Given the description of an element on the screen output the (x, y) to click on. 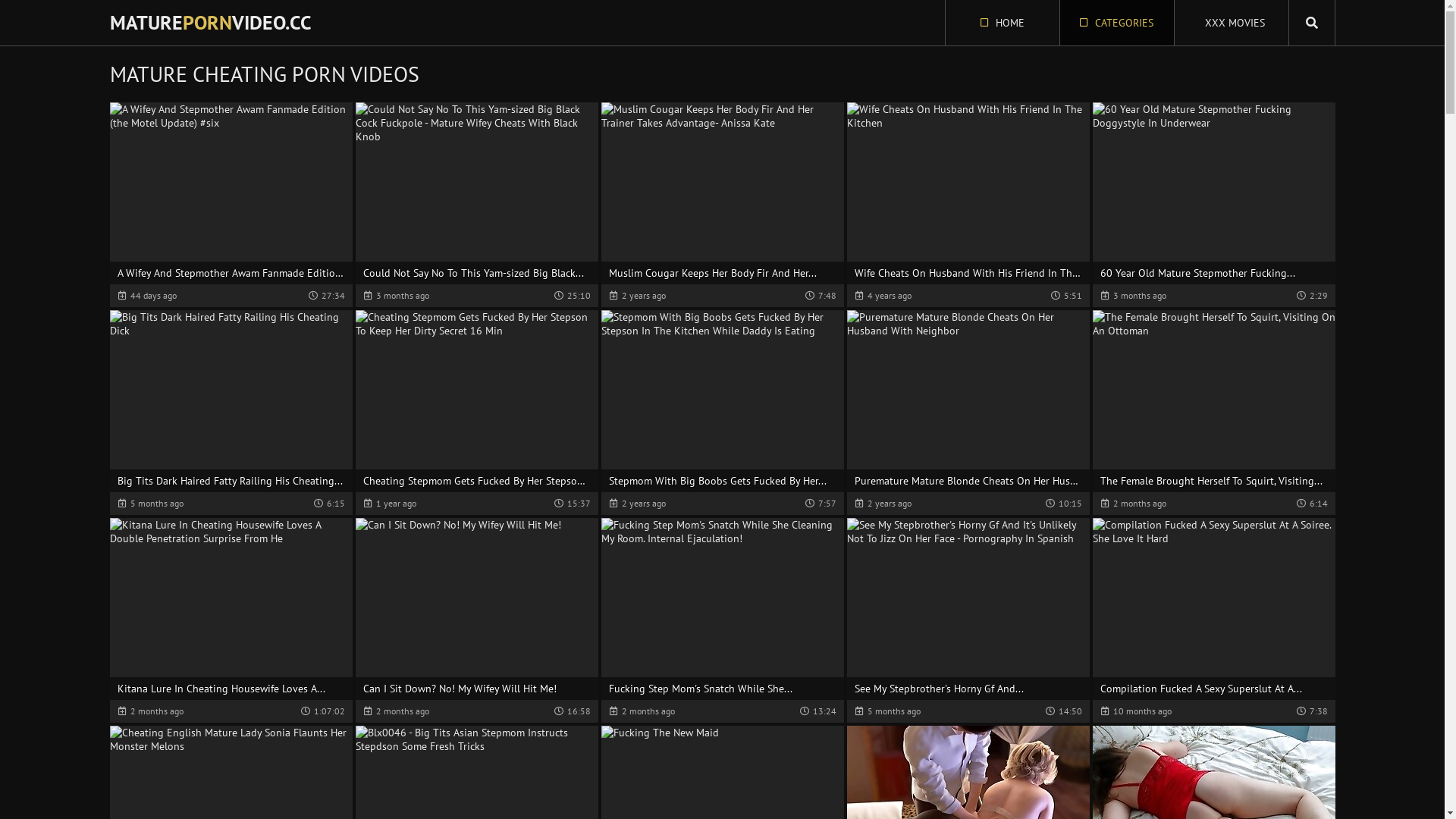
Can I Sit Down? No! My Wifey Will Hit Me!
2 months ago
16:58 Element type: text (475, 619)
CATEGORIES Element type: text (1116, 22)
Muslim Cougar Keeps Her Body Fir And Her...
2 years ago
7:48 Element type: text (721, 204)
Fucking Step Mom's Snatch While She...
2 months ago
13:24 Element type: text (721, 619)
60 Year Old Mature Stepmother Fucking...
3 months ago
2:29 Element type: text (1213, 204)
HOME Element type: text (1001, 22)
XXX MOVIES Element type: text (1230, 22)
See My Stepbrother's Horny Gf And...
5 months ago
14:50 Element type: text (967, 619)
MATUREPORNVIDEO.CC Element type: text (209, 22)
